Given the description of an element on the screen output the (x, y) to click on. 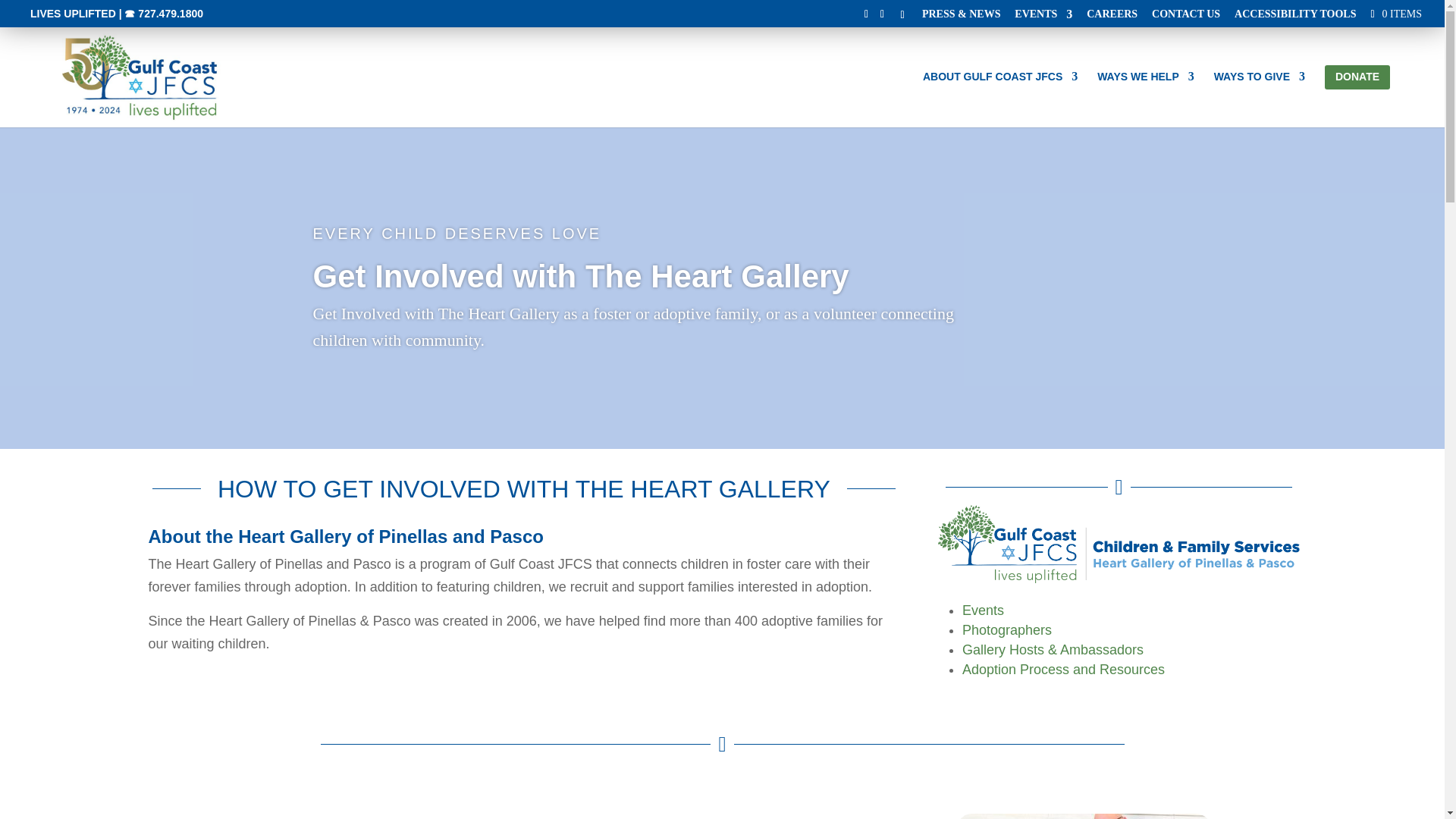
WAYS WE HELP (1145, 95)
Heart Gallery of Pinellas and Pasco 3-color logo (1118, 544)
community (1083, 816)
CONTACT US (1185, 18)
0 ITEMS (1394, 13)
ACCESSIBILITY TOOLS (1294, 18)
DONATE (1357, 96)
ABOUT GULF COAST JFCS (1000, 95)
EVENTS (1042, 18)
WAYS TO GIVE (1259, 95)
CAREERS (1111, 18)
